Given the description of an element on the screen output the (x, y) to click on. 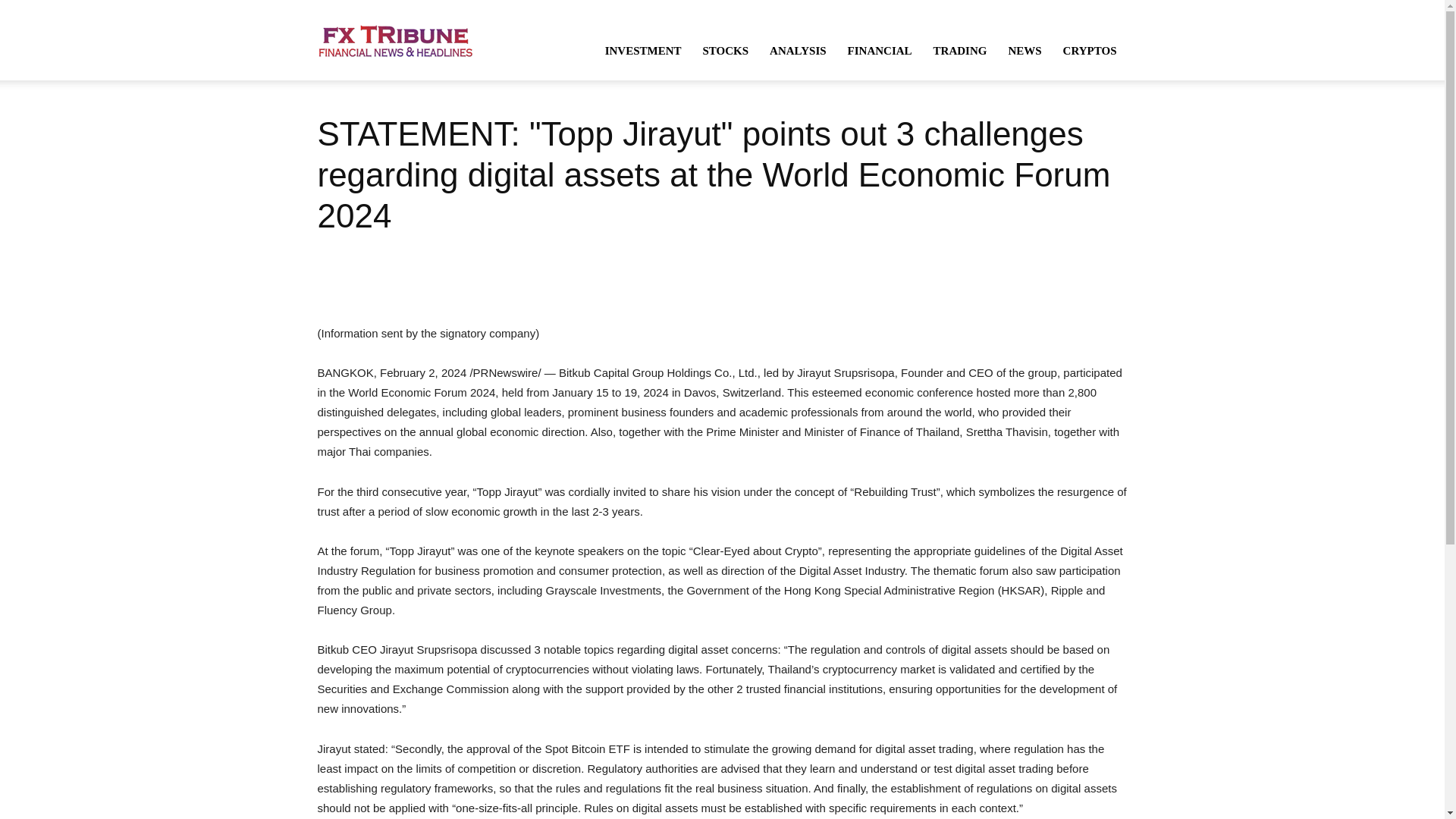
FINANCIAL (880, 50)
ANALYSIS (796, 50)
INVESTMENT (643, 50)
TRADING (960, 50)
NEWS (1024, 50)
STOCKS (724, 50)
Financial Headlines (395, 39)
CRYPTOS (1089, 50)
